Given the description of an element on the screen output the (x, y) to click on. 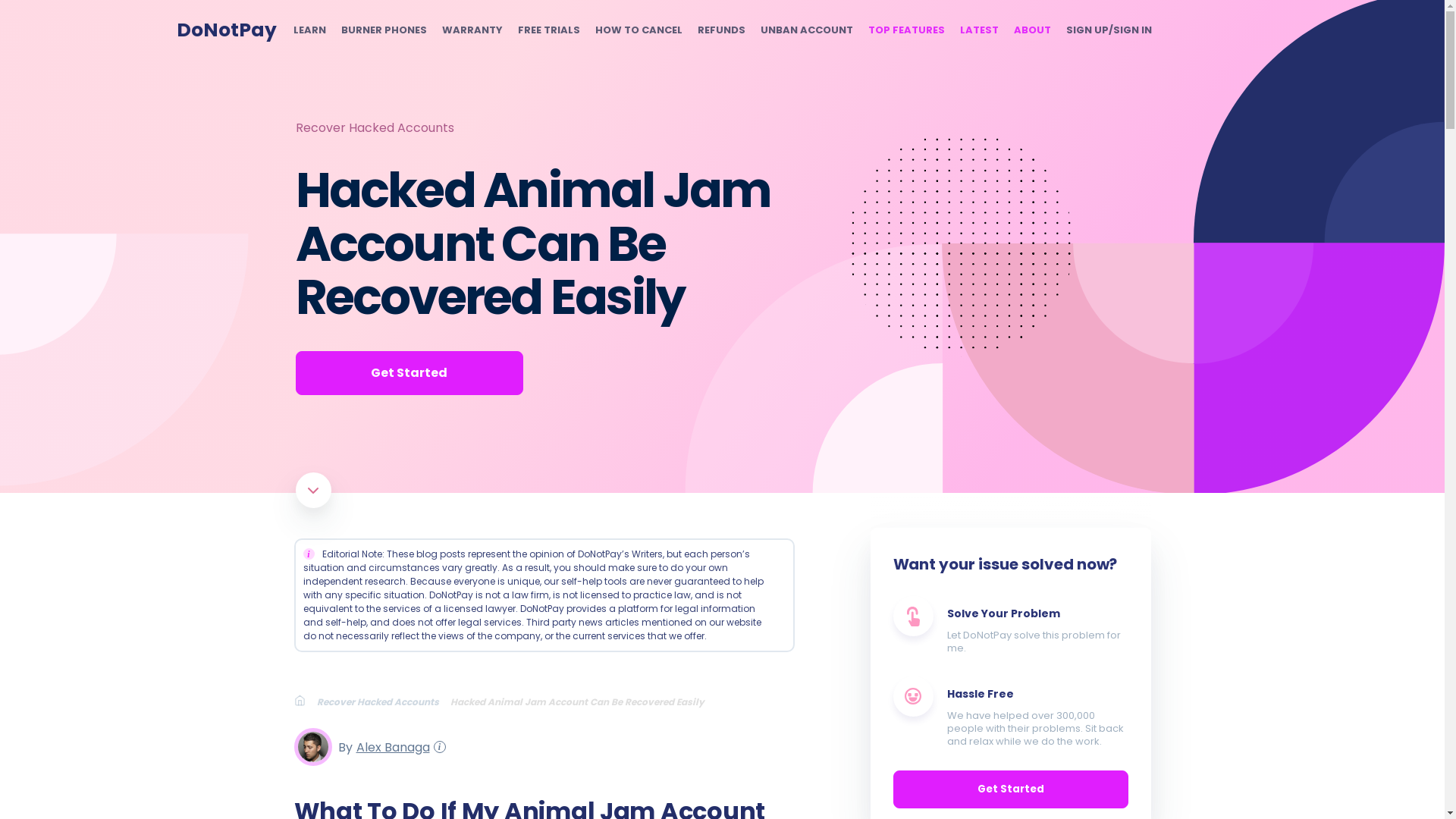
HOW TO CANCEL (637, 29)
DoNotPay (226, 29)
Recover Hacked Accounts (374, 127)
REFUNDS (721, 29)
LATEST (978, 29)
FREE TRIALS (547, 29)
Alex Banaga (390, 746)
WARRANTY (471, 29)
LEARN (308, 29)
TOP FEATURES (905, 29)
UNBAN ACCOUNT (805, 29)
Get Started (408, 372)
BURNER PHONES (383, 29)
ABOUT (1031, 29)
Recover Hacked Accounts (383, 700)
